Given the description of an element on the screen output the (x, y) to click on. 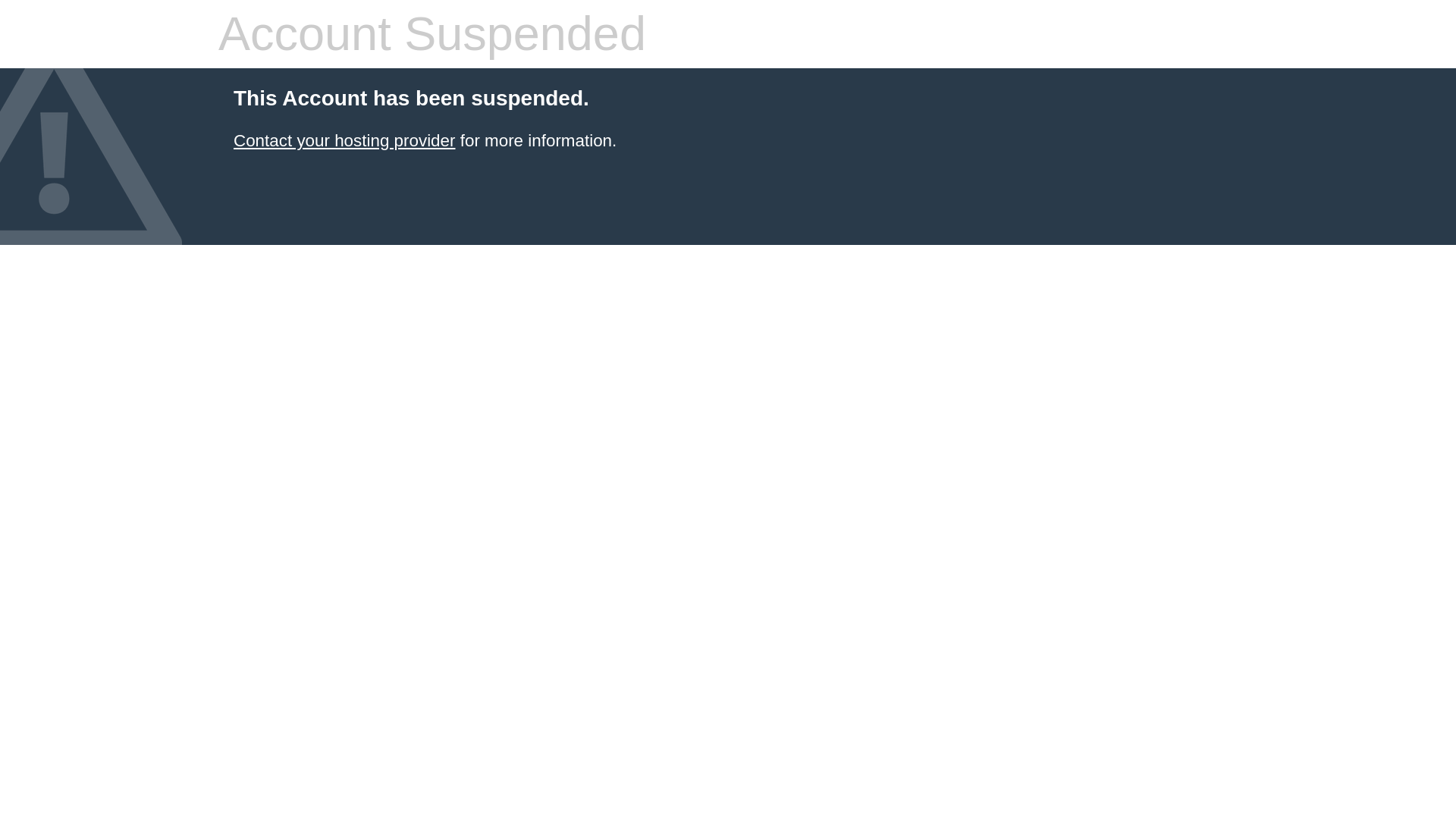
Contact your hosting provider (343, 140)
